Given the description of an element on the screen output the (x, y) to click on. 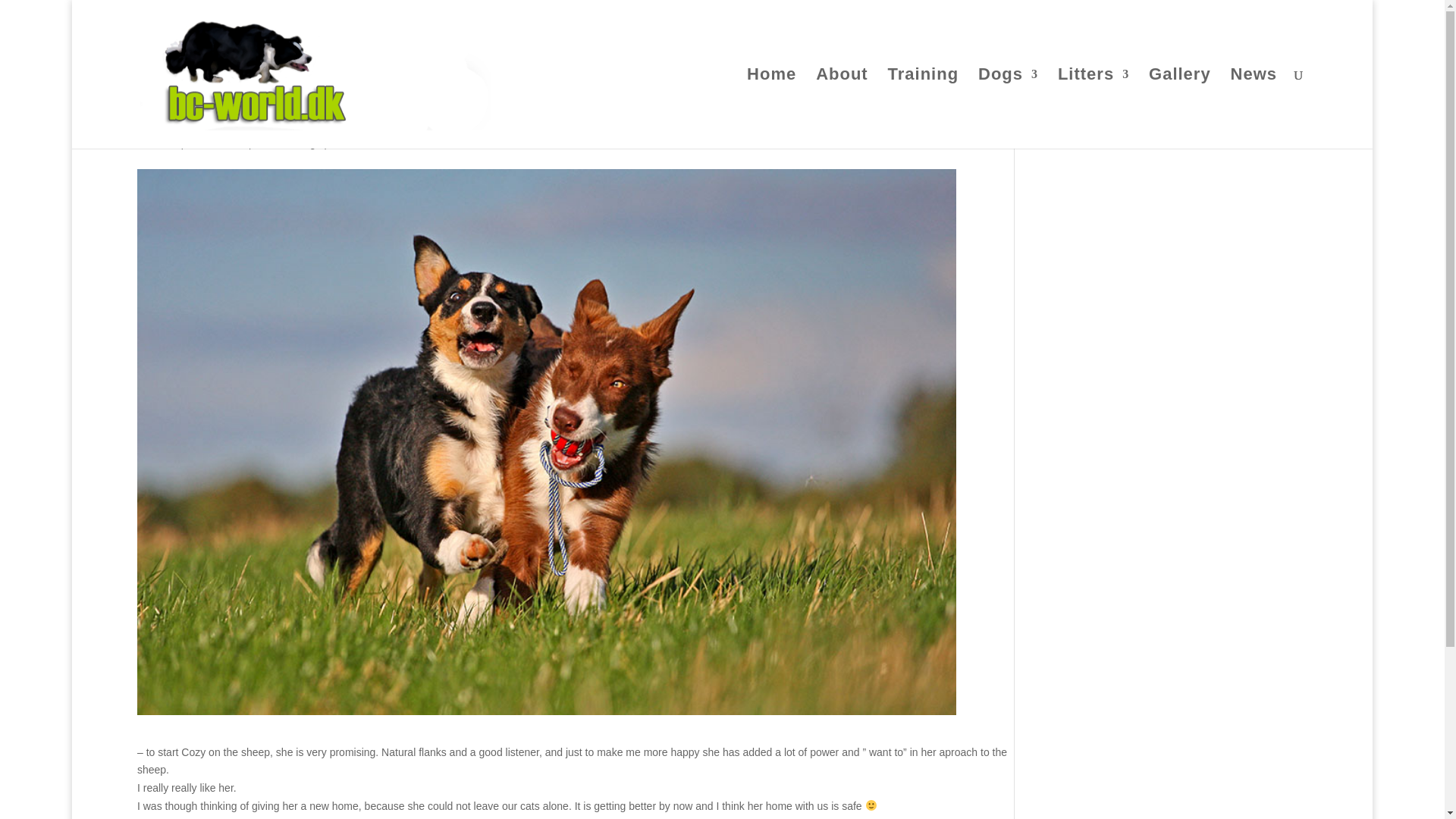
Training (923, 108)
Litters (1093, 108)
